Given the description of an element on the screen output the (x, y) to click on. 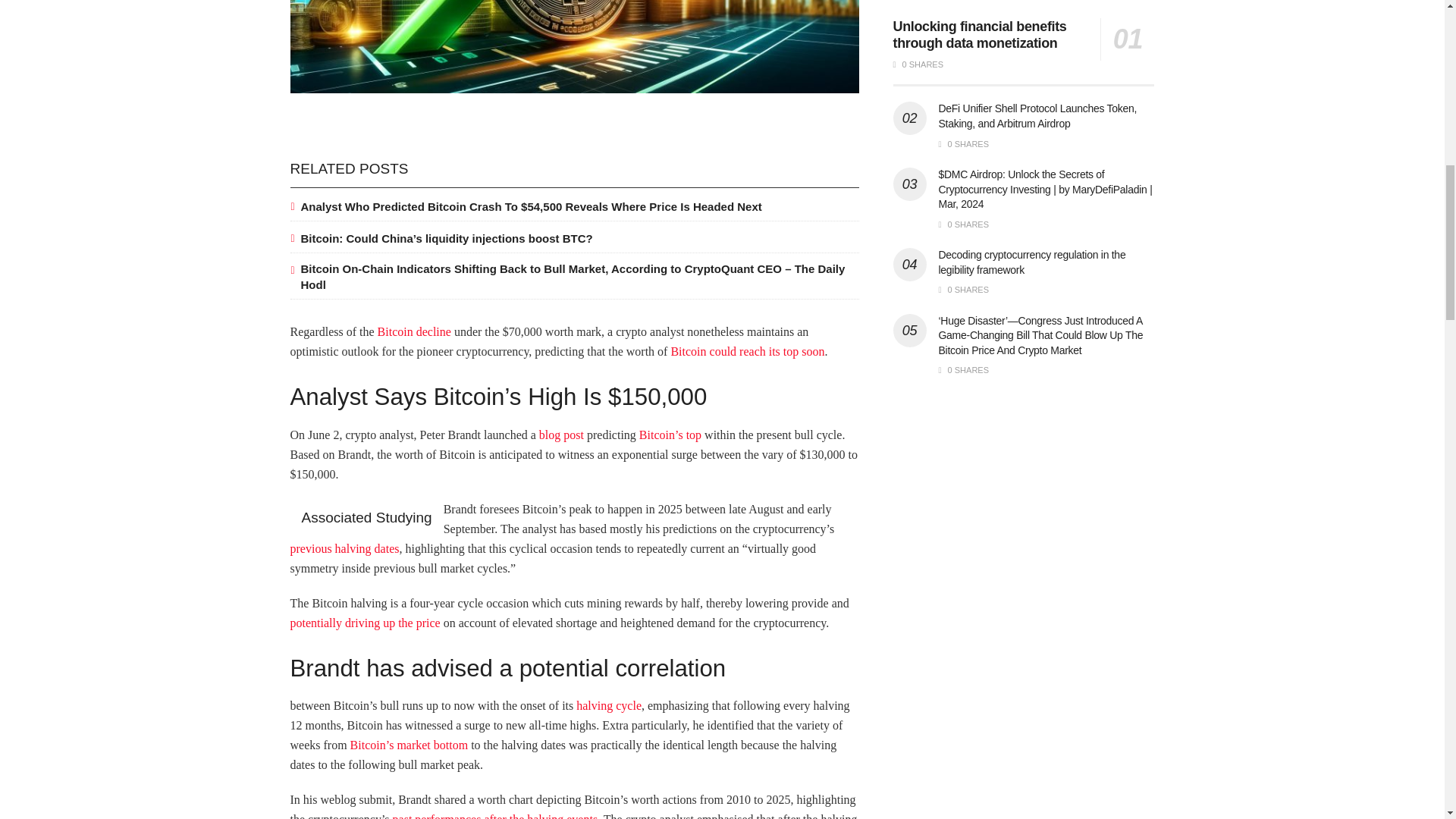
blog post (560, 434)
Bitcoin decline (414, 331)
previous halving dates (343, 548)
halving cycle (609, 705)
Bitcoin could reach its top soon (746, 350)
past performances after the halving events (495, 816)
potentially driving up the price (365, 622)
